Given the description of an element on the screen output the (x, y) to click on. 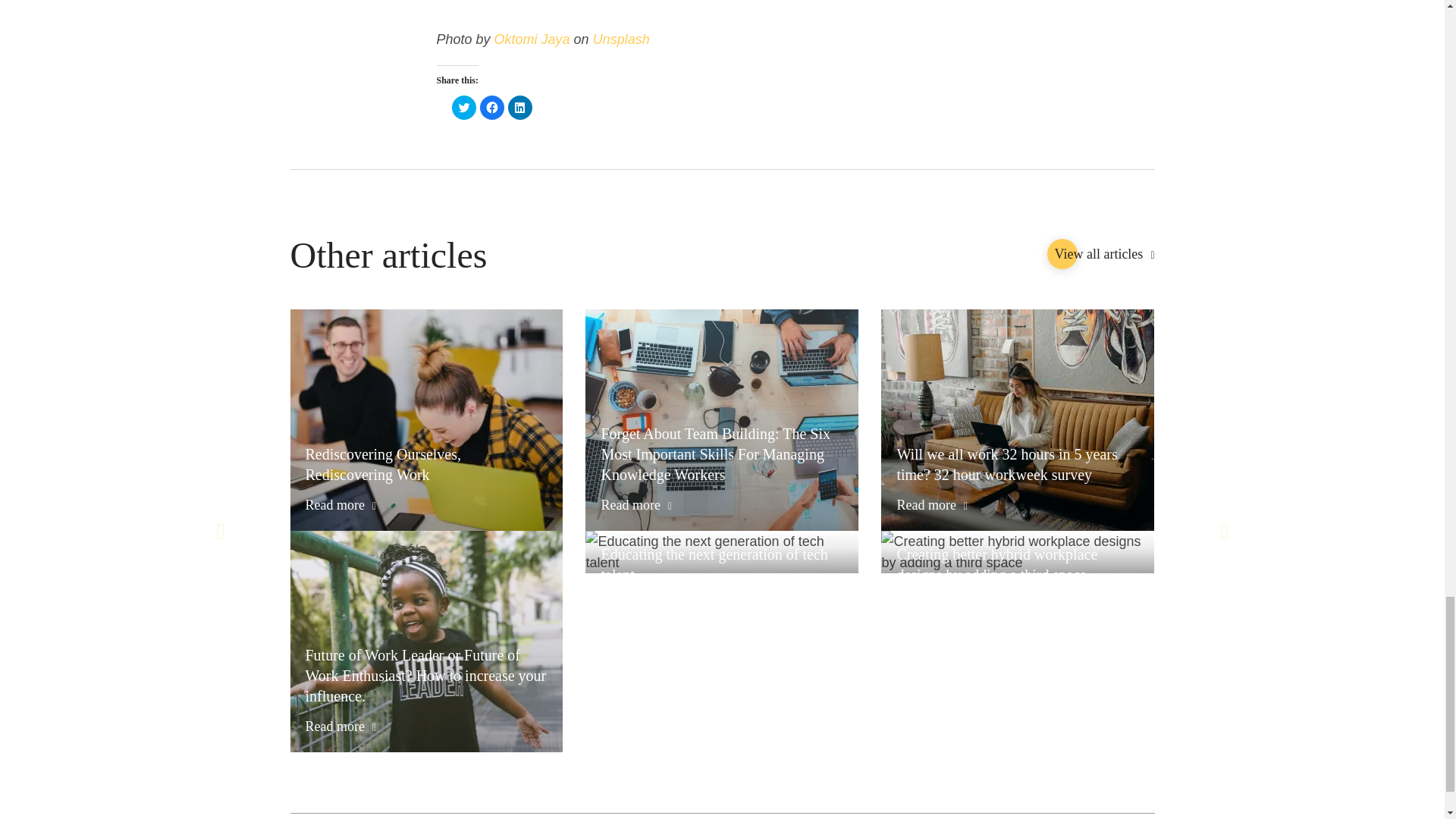
Educating the next generation of tech talent (721, 564)
Read more (932, 605)
Read more (339, 505)
Rediscovering Ourselves, Rediscovering Work (425, 464)
Click to share on LinkedIn (520, 107)
Read more (635, 505)
Read more (339, 726)
Read more (932, 505)
